Given the description of an element on the screen output the (x, y) to click on. 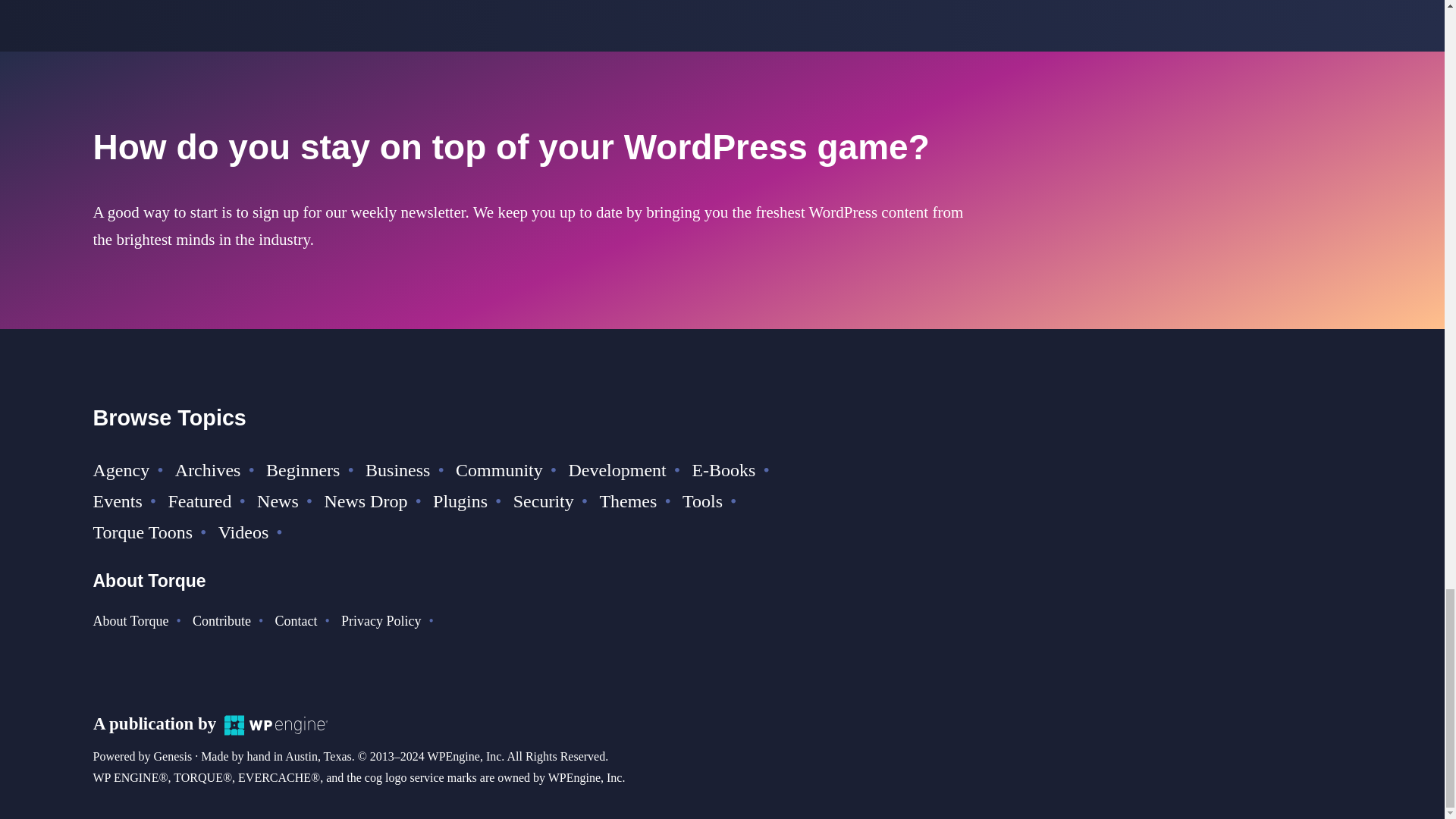
A publication by (210, 723)
